Given the description of an element on the screen output the (x, y) to click on. 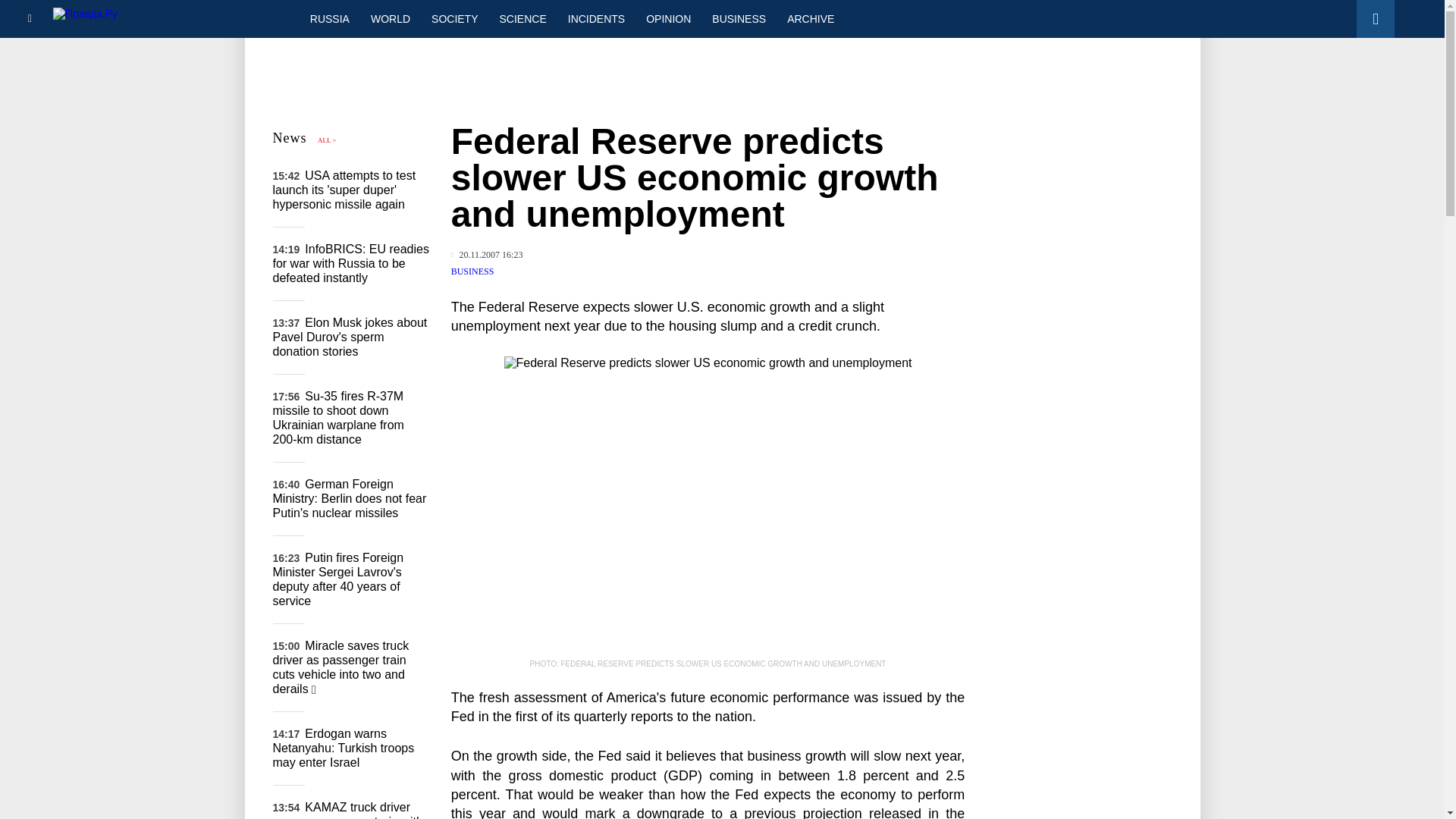
News (290, 137)
BUSINESS (473, 271)
SCIENCE (523, 18)
RUSSIA (329, 18)
INCIDENTS (595, 18)
BUSINESS (738, 18)
Published (486, 255)
SOCIETY (453, 18)
Erdogan warns Netanyahu: Turkish troops may enter Israel (343, 748)
